Given the description of an element on the screen output the (x, y) to click on. 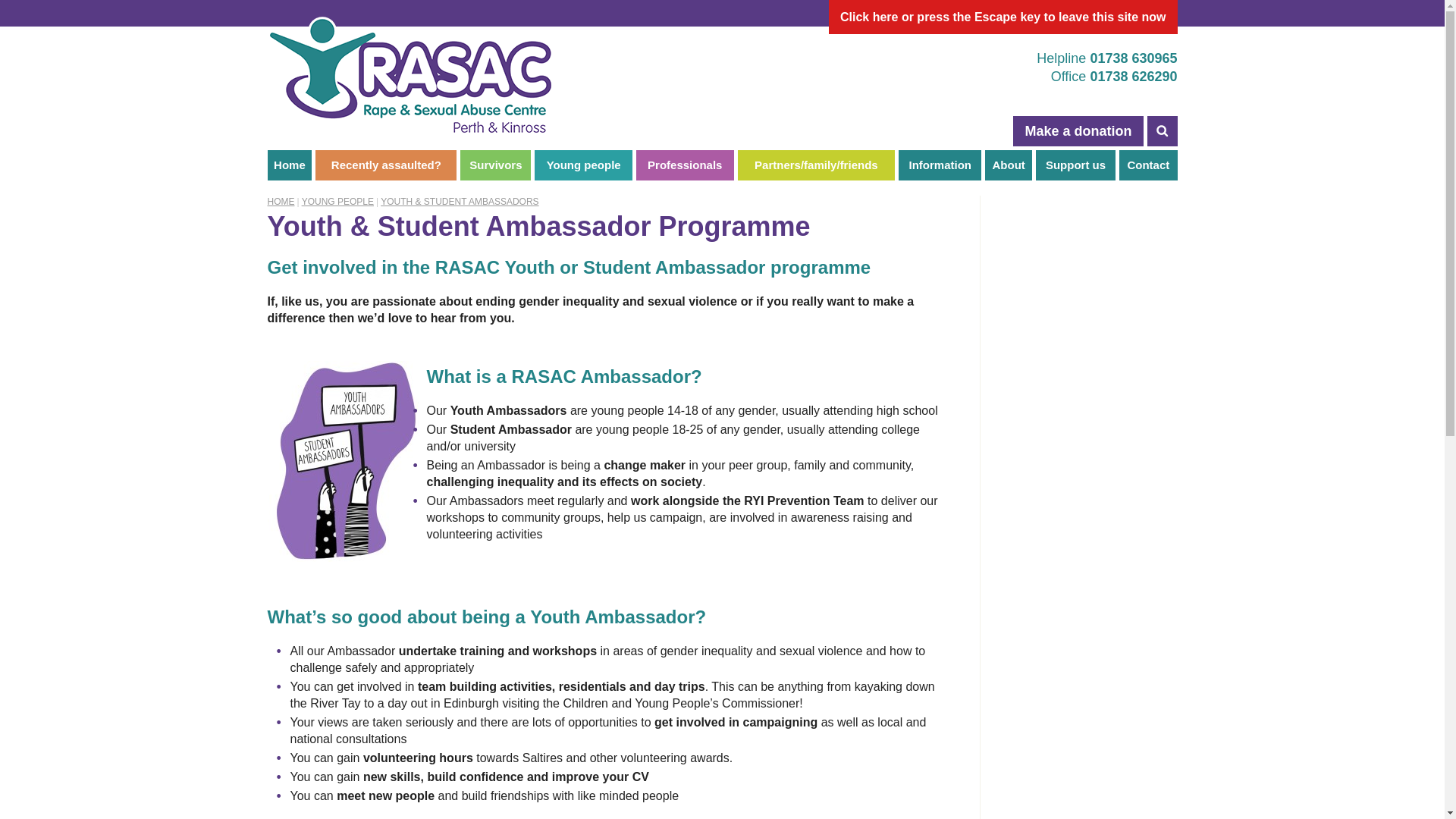
Professionals (684, 164)
Make a donation (1077, 131)
Survivors (495, 164)
Recently assaulted? (386, 164)
Home (288, 164)
Click here or press the Escape key to leave this site now (1002, 17)
Young people (582, 164)
